Given the description of an element on the screen output the (x, y) to click on. 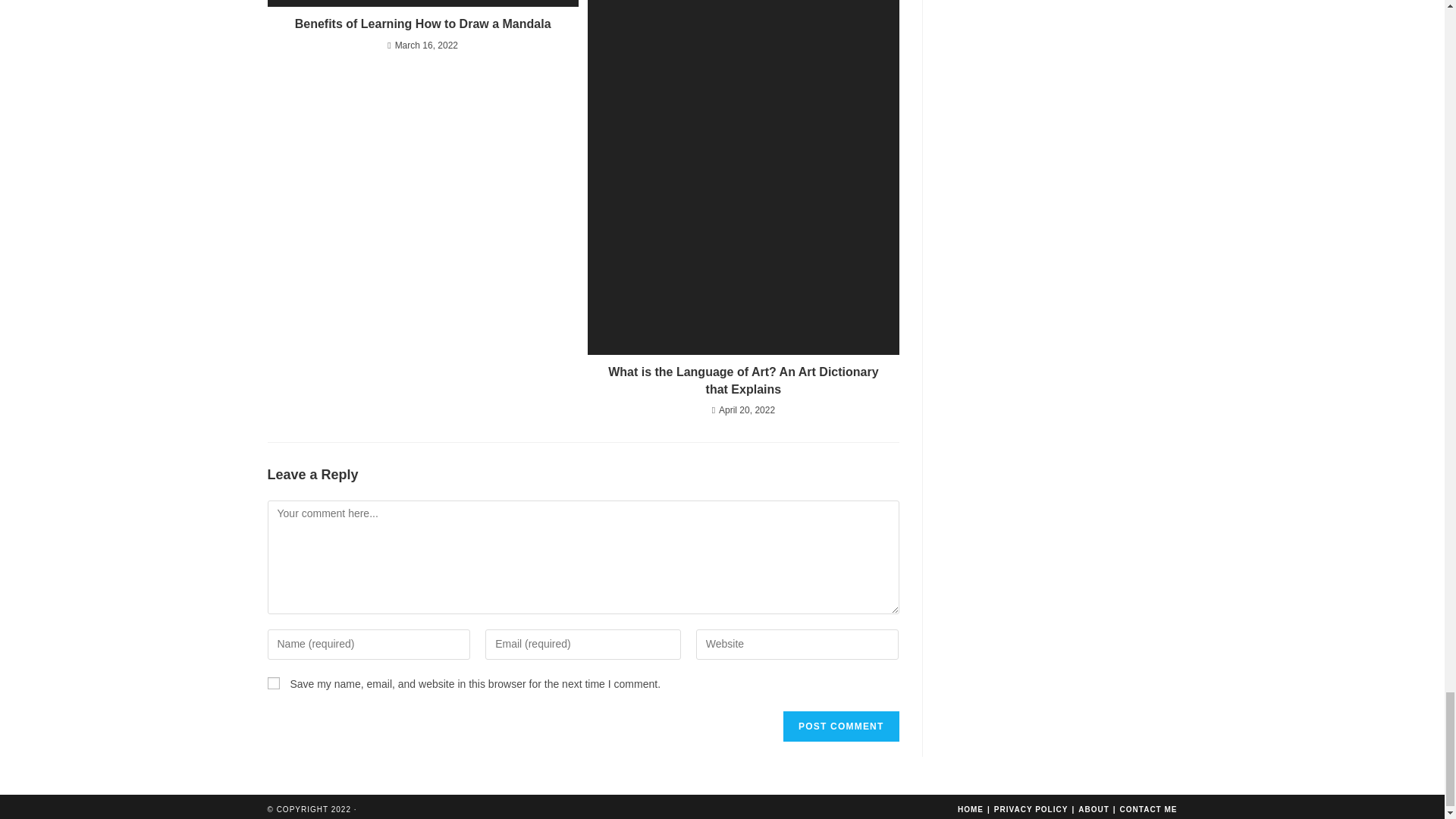
What is the Language of Art? An Art Dictionary that Explains (742, 380)
CONTACT ME (1148, 809)
Benefits of Learning How to Draw a Mandala (422, 23)
Benefits of Learning How to Draw a Mandala 2 (422, 3)
yes (272, 683)
ABOUT (1093, 809)
Post Comment (840, 726)
HOME (971, 809)
Post Comment (840, 726)
PRIVACY POLICY (1031, 809)
